Given the description of an element on the screen output the (x, y) to click on. 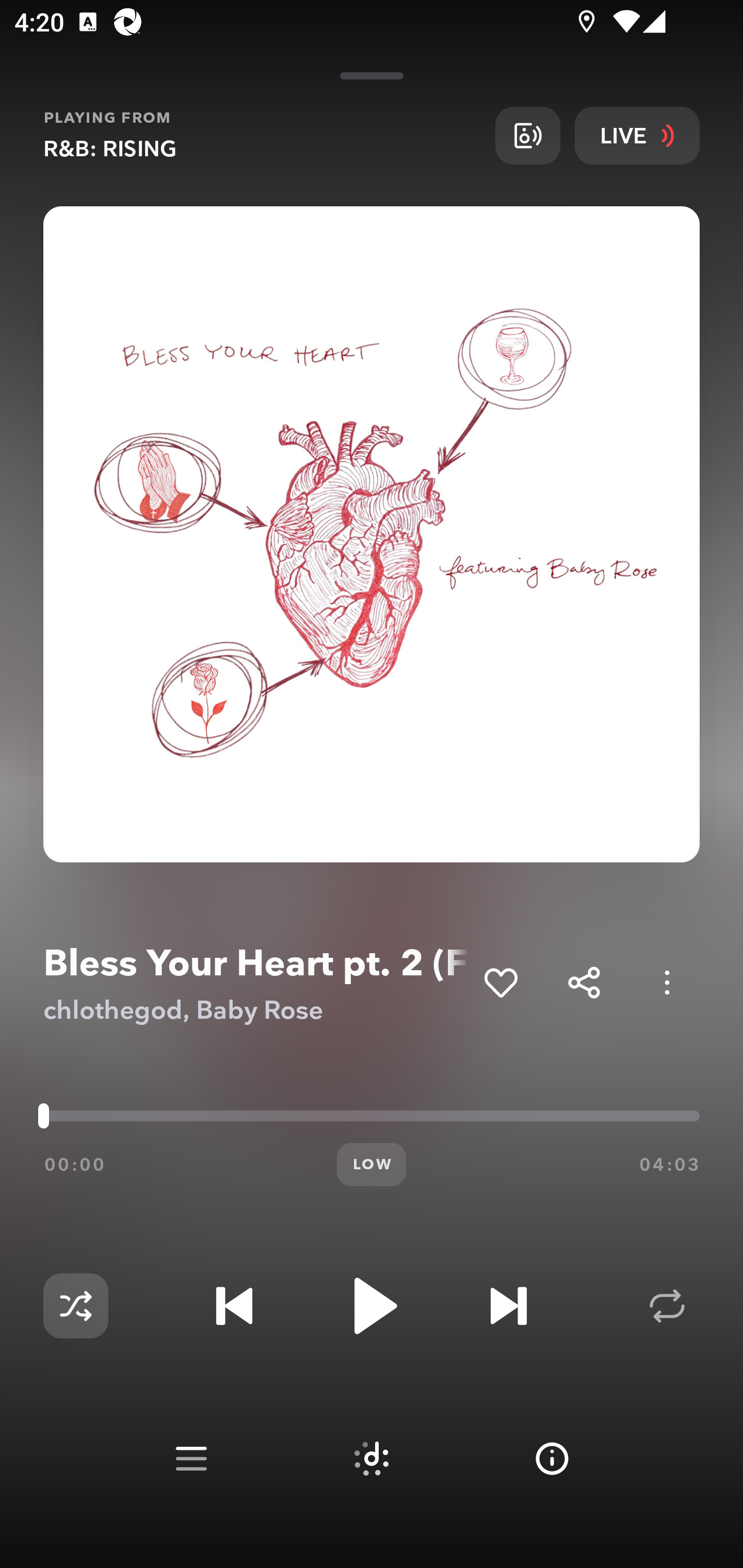
Broadcast (527, 135)
LIVE (637, 135)
PLAYING FROM R&B: RISING (261, 135)
Add to My Collection (500, 982)
Share (583, 982)
Options (666, 982)
LOW (371, 1164)
Play (371, 1306)
Previous (234, 1306)
Next (508, 1306)
Shuffle enabled (75, 1306)
Repeat Off (666, 1306)
Play queue (191, 1458)
Suggested tracks (371, 1458)
Info (551, 1458)
